Given the description of an element on the screen output the (x, y) to click on. 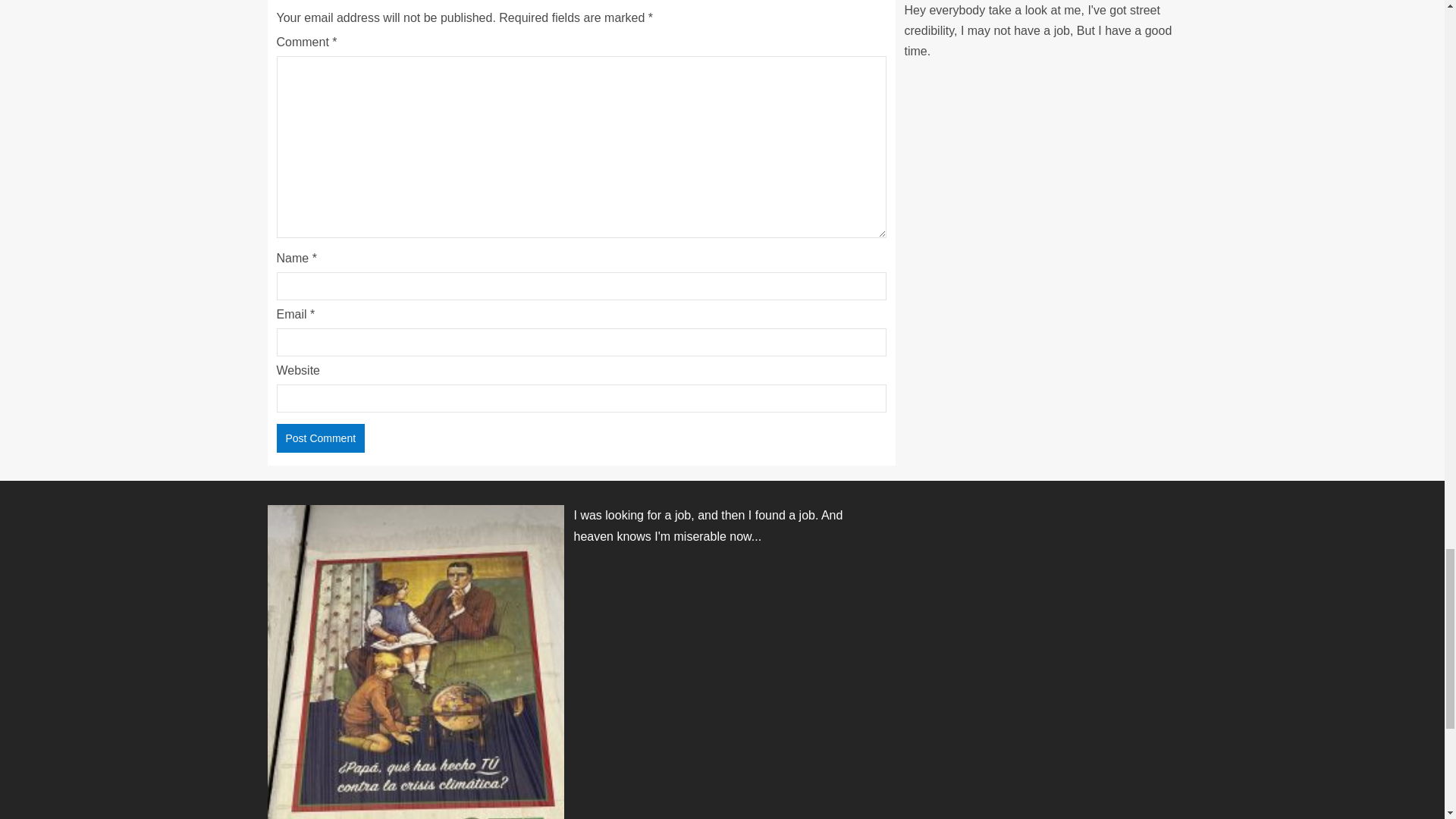
Post Comment (320, 438)
Post Comment (320, 438)
